Given the description of an element on the screen output the (x, y) to click on. 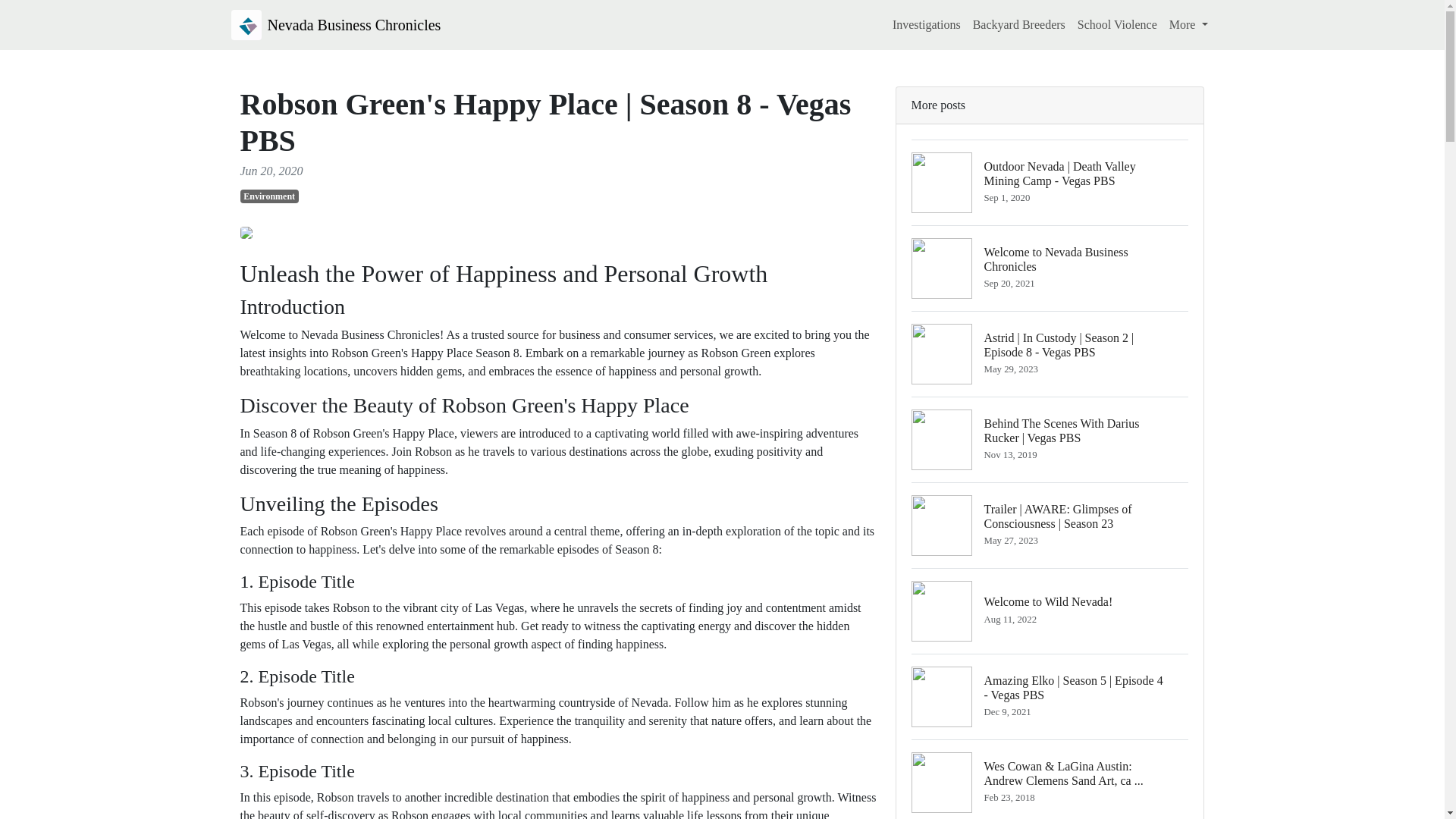
Nevada Business Chronicles (335, 24)
Backyard Breeders (1018, 24)
School Violence (1050, 268)
Environment (1117, 24)
More (269, 196)
Investigations (1188, 24)
